Given the description of an element on the screen output the (x, y) to click on. 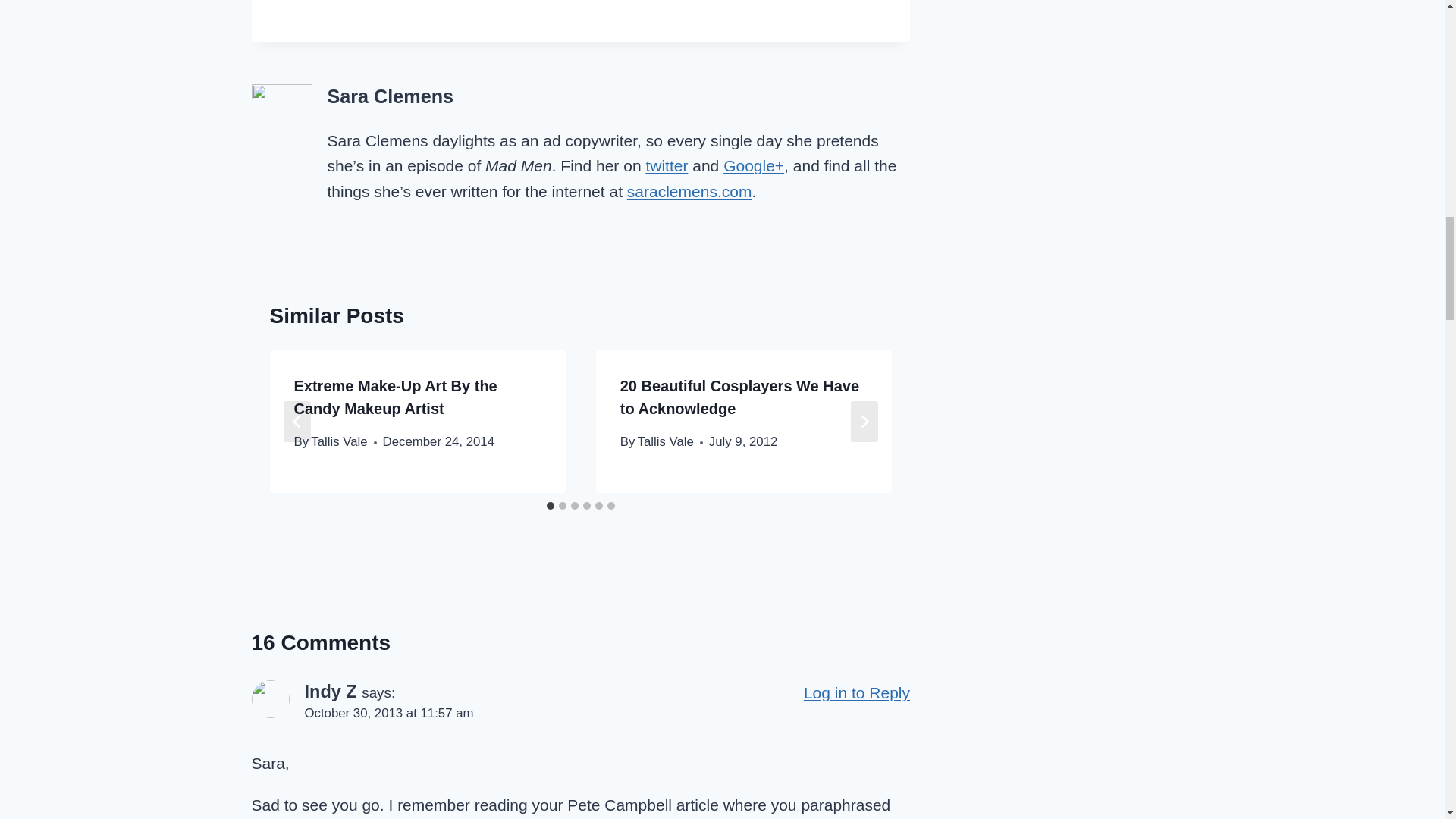
Tallis Vale (665, 441)
Tallis Vale (338, 441)
saraclemens.com (689, 190)
twitter (666, 165)
Sara Clemens (390, 96)
Extreme Make-Up Art By the Candy Makeup Artist (395, 396)
20 Beautiful Cosplayers We Have to Acknowledge (739, 396)
Posts by Sara Clemens (390, 96)
